Given the description of an element on the screen output the (x, y) to click on. 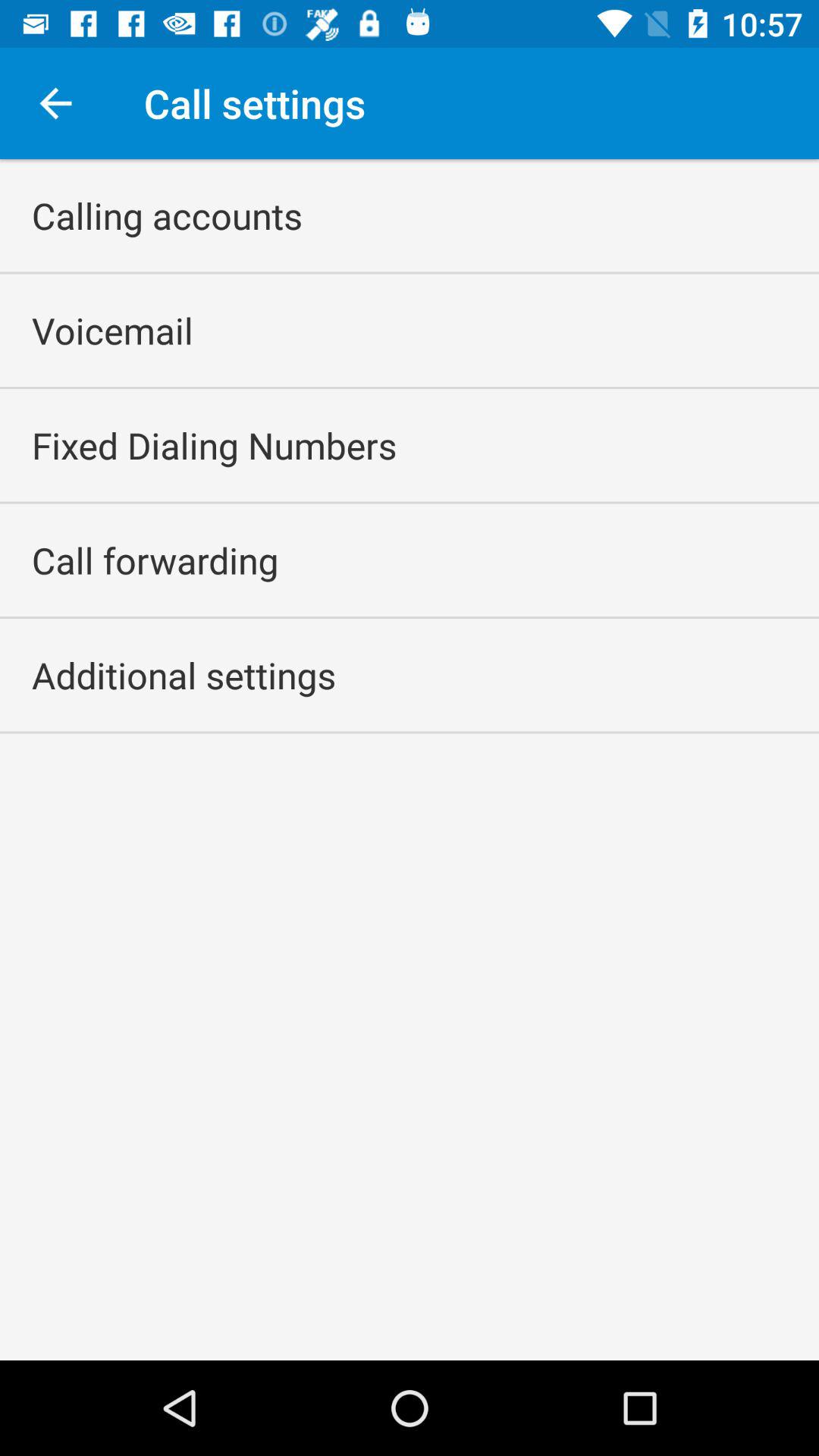
launch the fixed dialing numbers app (213, 444)
